Given the description of an element on the screen output the (x, y) to click on. 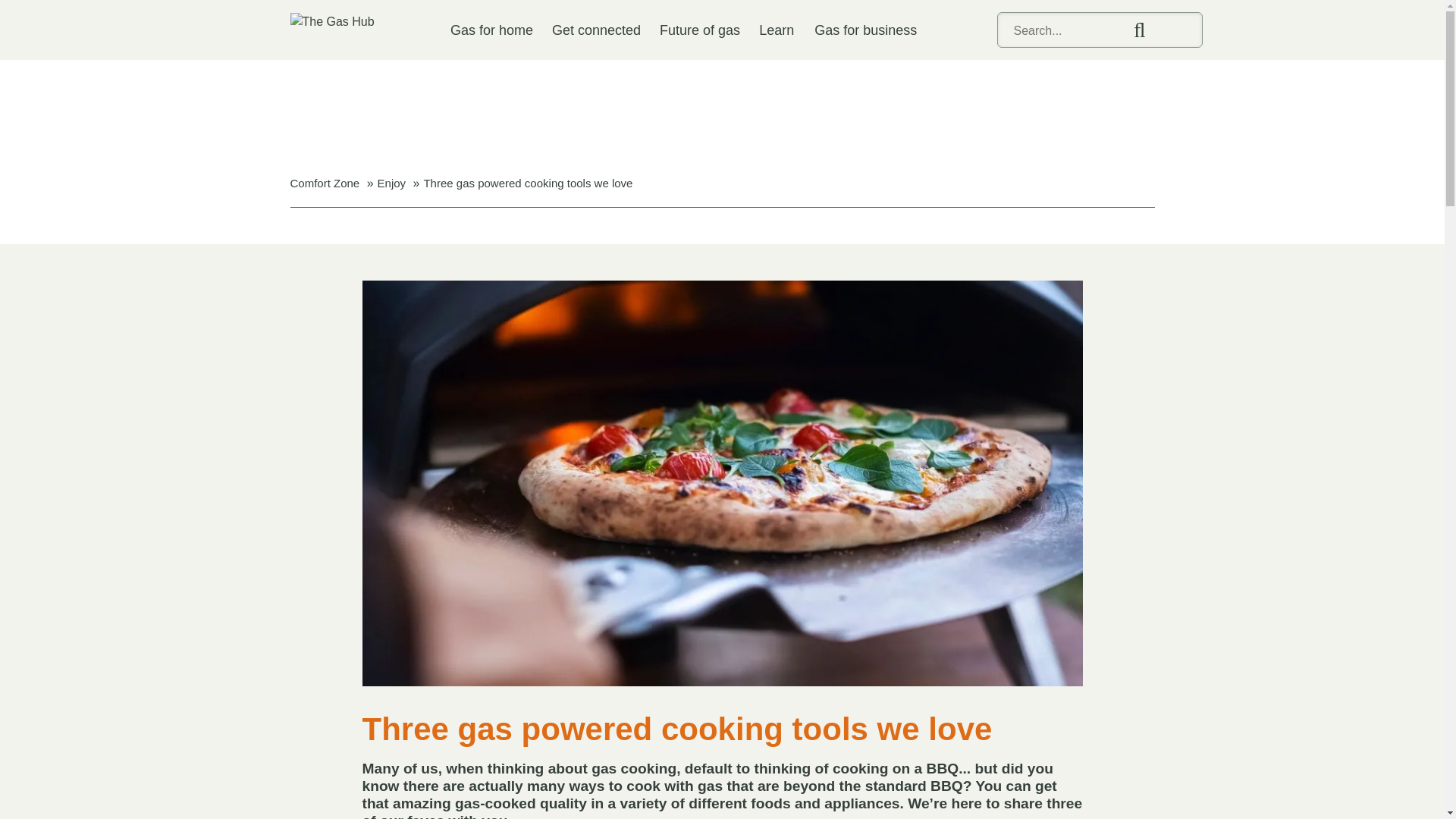
Enjoy (391, 182)
Learn (775, 29)
Get connected (595, 29)
Comfort Zone (324, 182)
Three gas powered cooking tools we love (527, 182)
Learn (775, 29)
The Gas Hub Logo (331, 21)
Gas for home (490, 29)
Gas for home (490, 29)
Future of gas (699, 29)
